Given the description of an element on the screen output the (x, y) to click on. 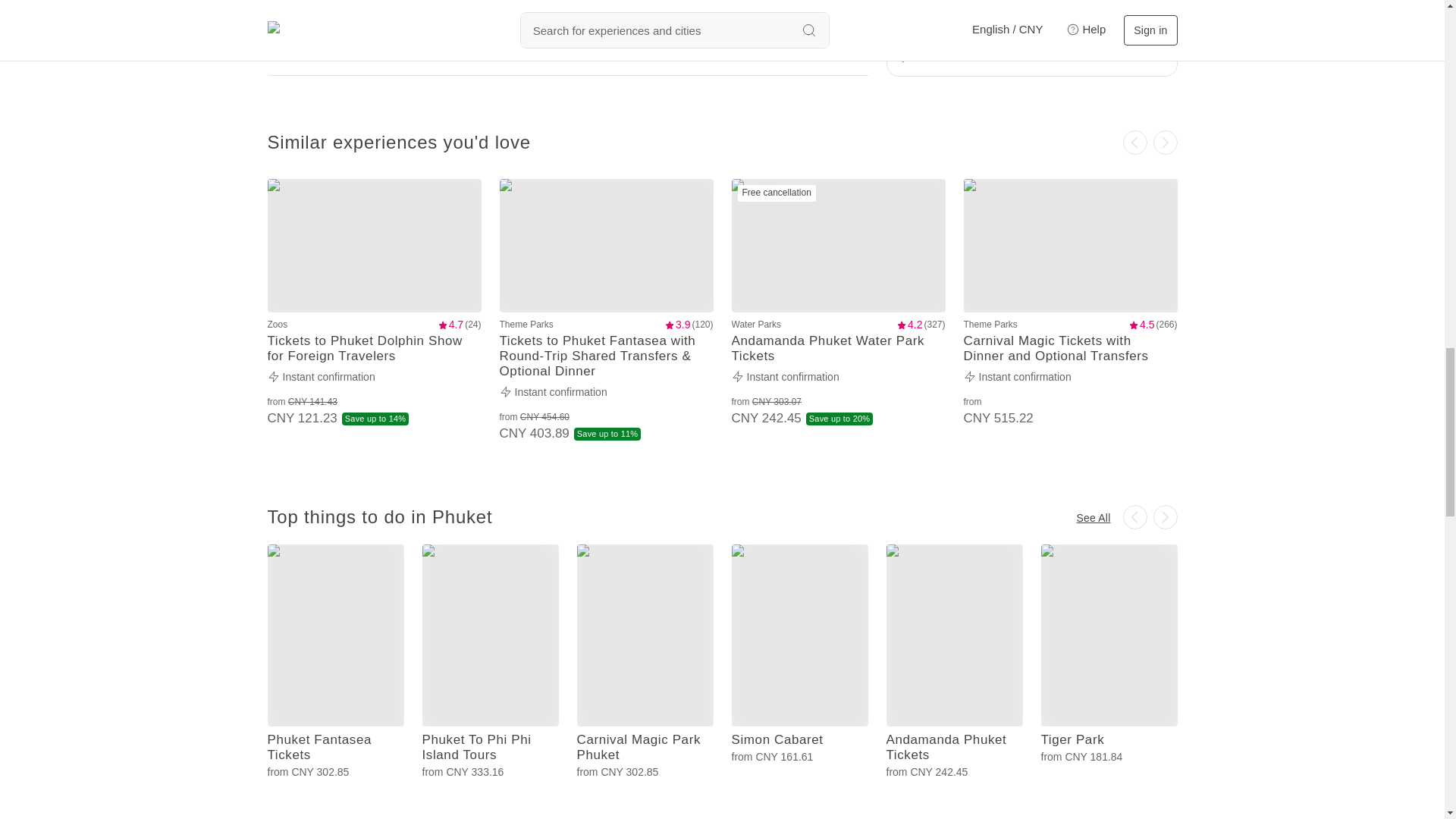
Tickets to Phuket Dolphin Show for Foreign Travelers (373, 348)
Andamanda Phuket Water Park Tickets (837, 348)
No (480, 40)
Carnival Magic Tickets with Dinner and Optional Transfers (1069, 348)
Yes (436, 40)
See All (1093, 517)
